Given the description of an element on the screen output the (x, y) to click on. 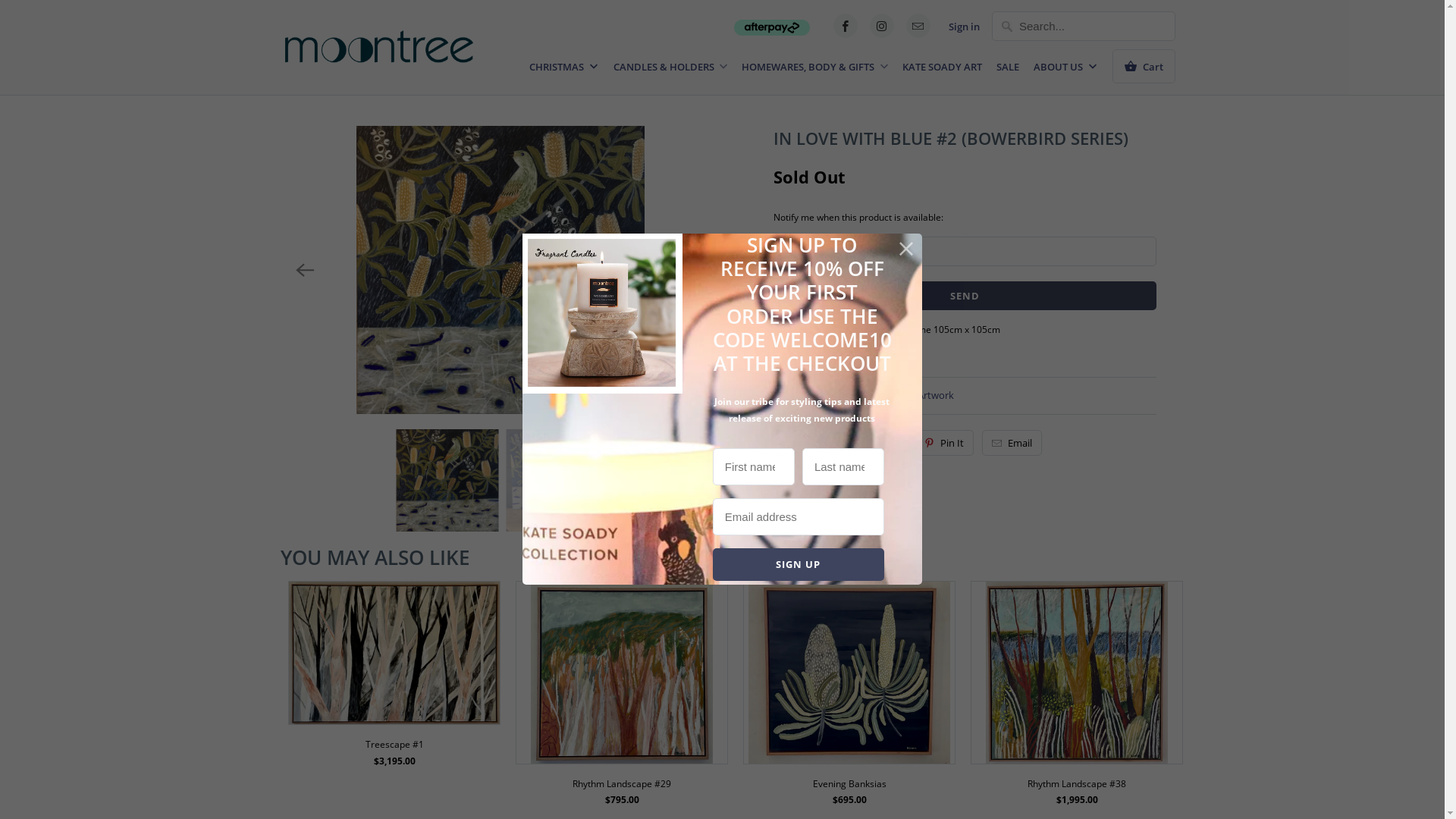
Moontree Element type: hover (378, 41)
Share Element type: text (875, 442)
KATE SOADY ART Element type: text (942, 70)
Treescape #1
$3,195.00 Element type: text (394, 682)
Kate Soady Original Artwork Element type: text (890, 394)
ABOUT US Element type: text (1065, 70)
Close Element type: hover (906, 248)
HOMEWARES, BODY & GIFTS Element type: text (814, 70)
Send Element type: text (964, 295)
Sign Up Element type: text (798, 564)
Pin It Element type: text (943, 442)
Tweet Element type: text (804, 442)
Cart Element type: text (1143, 66)
Sign in Element type: text (963, 26)
CHRISTMAS Element type: text (564, 70)
CANDLES & HOLDERS Element type: text (670, 70)
Moontree on Instagram Element type: hover (881, 25)
Moontree on Facebook Element type: hover (845, 25)
Email Moontree Element type: hover (918, 25)
In Love with Blue #2 (Bowerbird Series) Element type: hover (500, 269)
Email Element type: text (1011, 442)
SALE Element type: text (1007, 70)
